Given the description of an element on the screen output the (x, y) to click on. 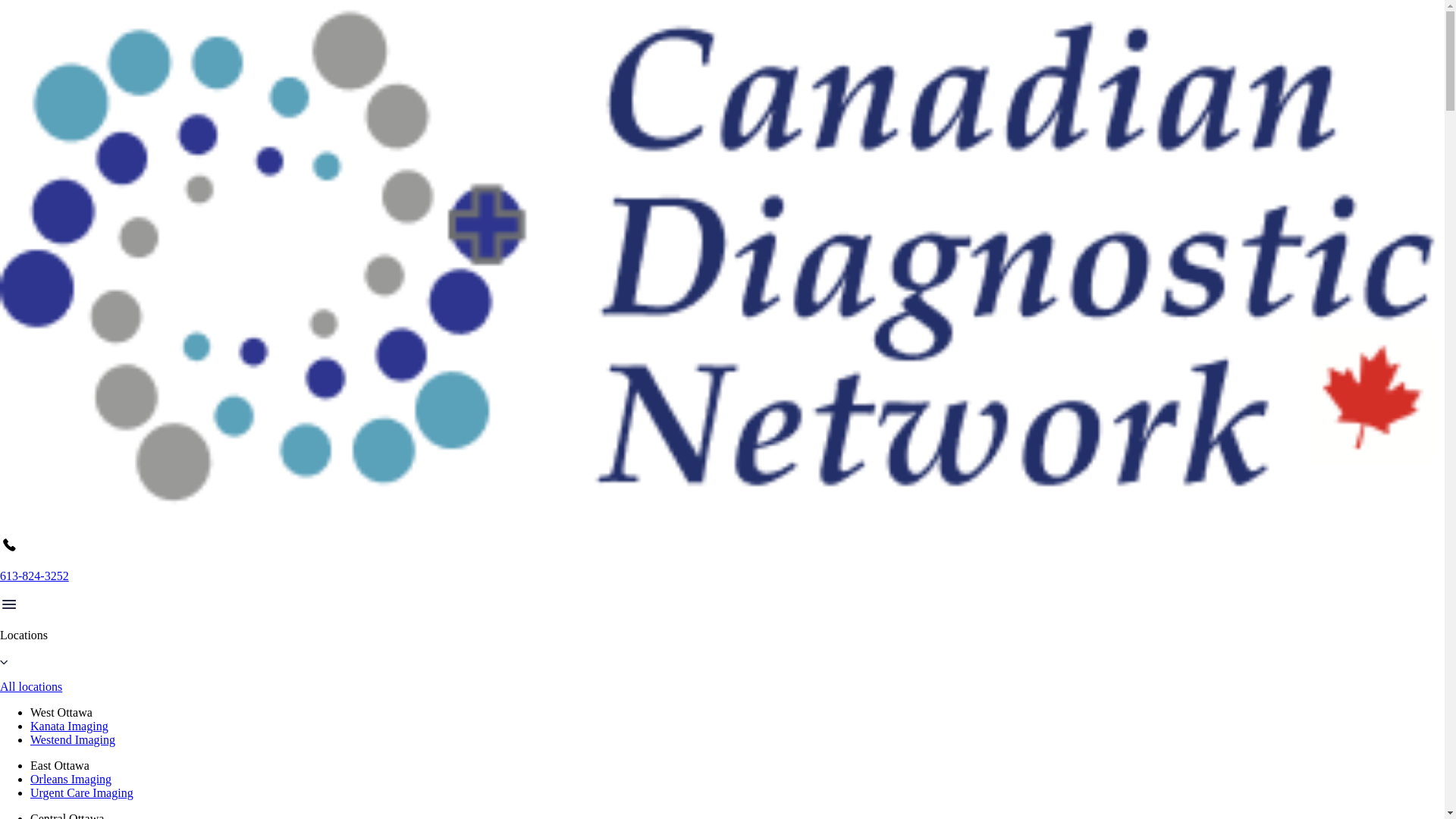
Westend Imaging (72, 739)
Kanata Imaging (68, 725)
Orleans Imaging (71, 779)
Urgent Care Imaging (81, 792)
